Given the description of an element on the screen output the (x, y) to click on. 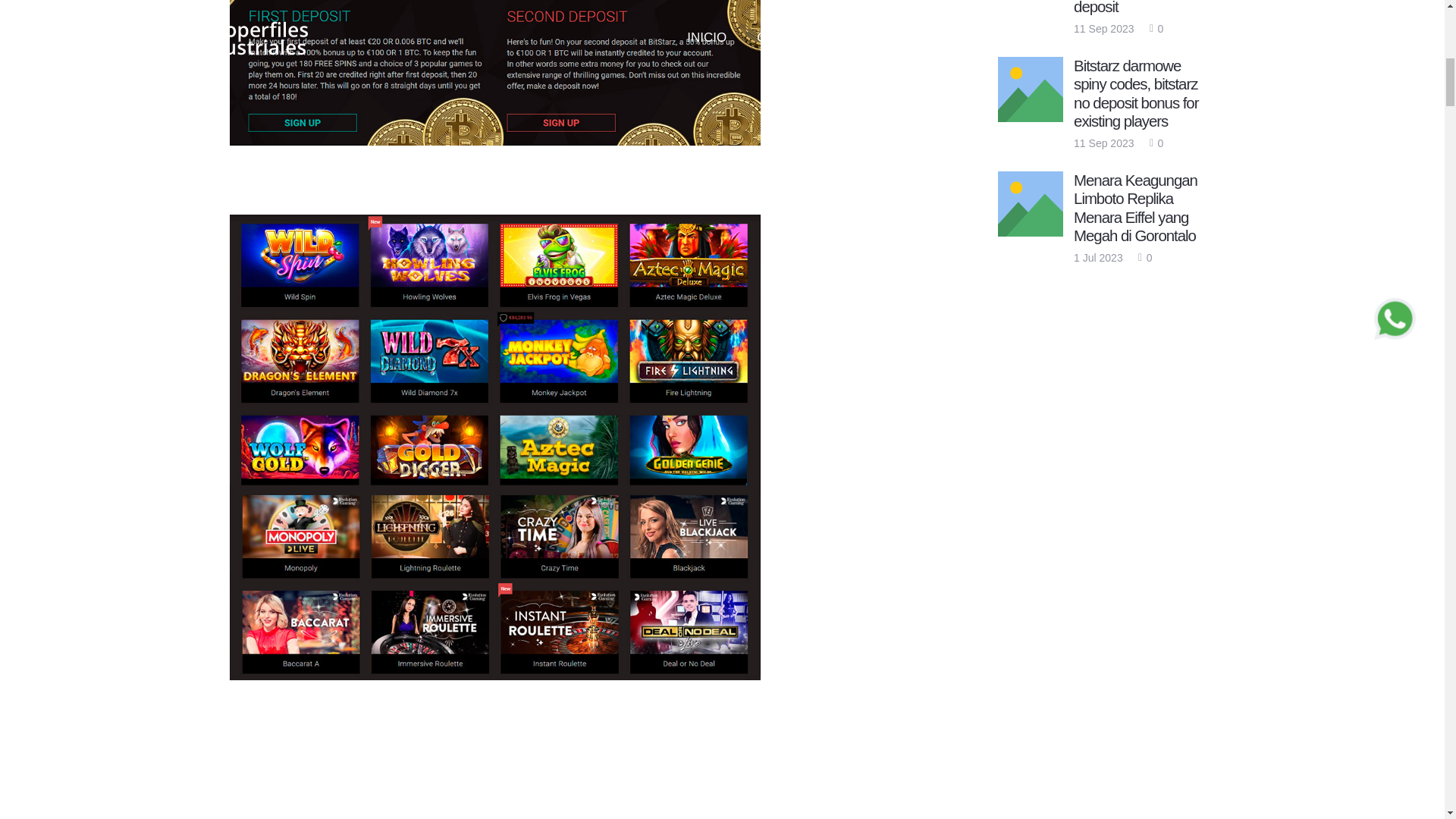
The little bandit slot machine (494, 72)
